Given the description of an element on the screen output the (x, y) to click on. 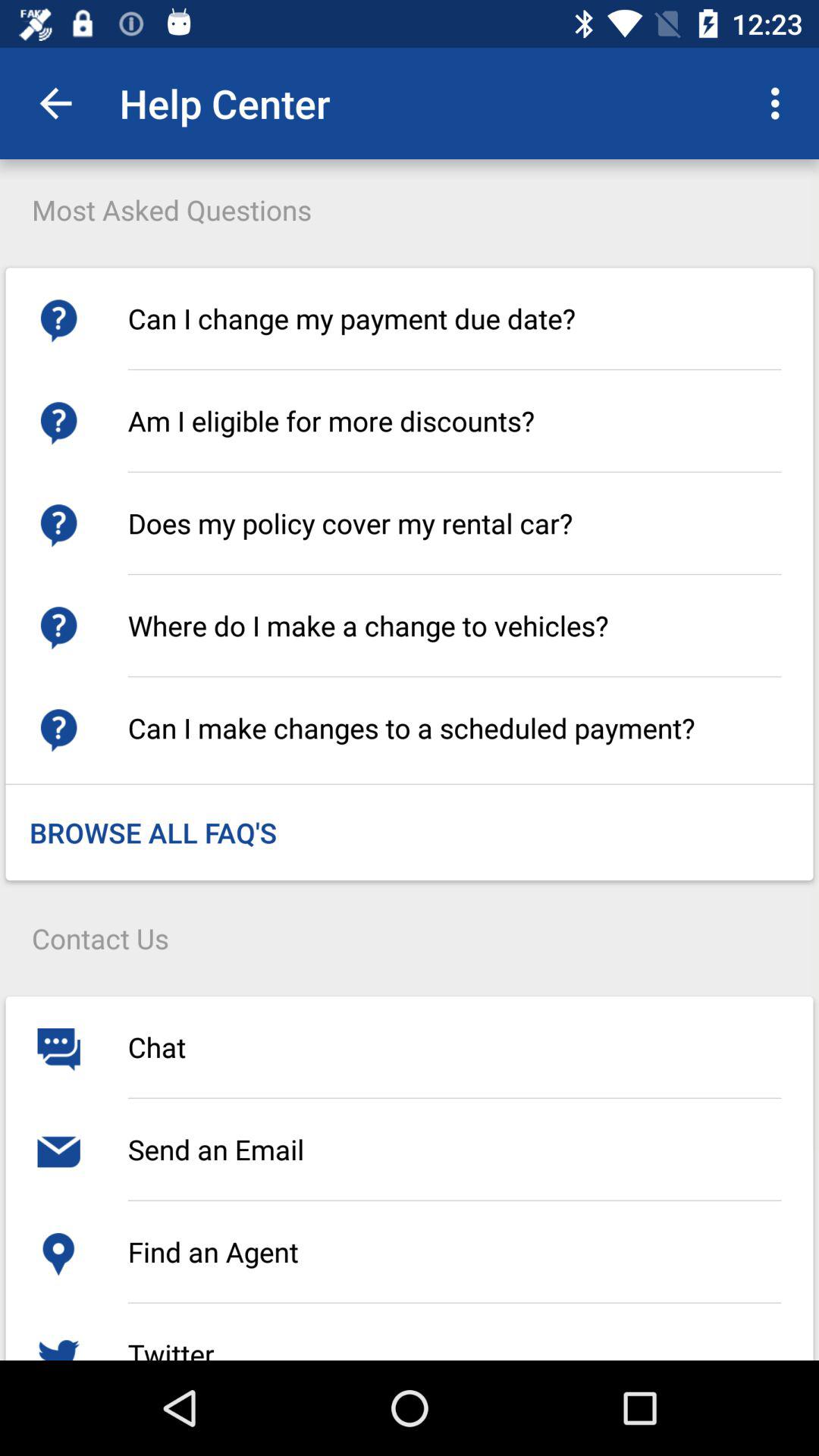
turn off the item above can i change icon (779, 103)
